Given the description of an element on the screen output the (x, y) to click on. 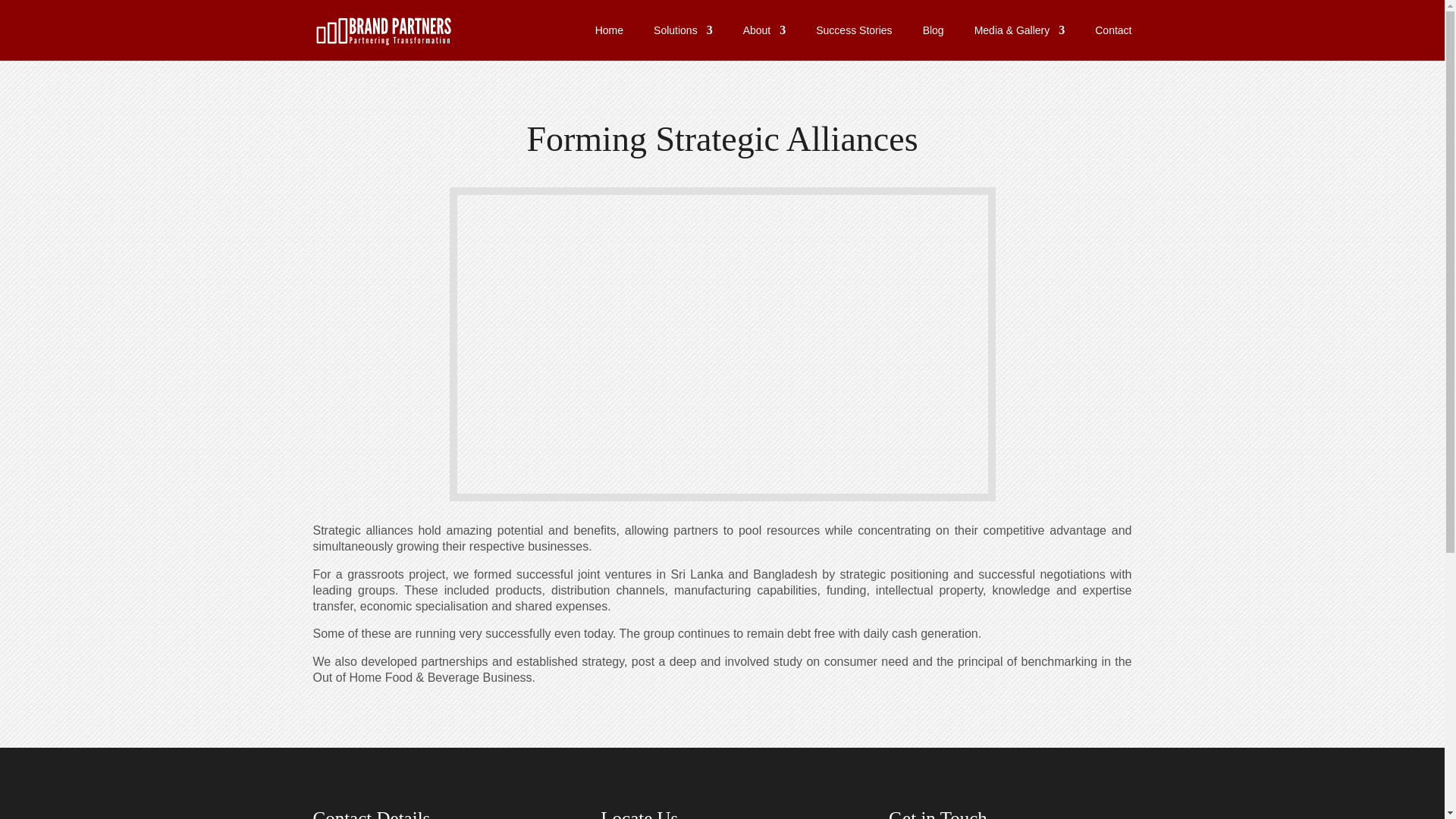
Solutions (683, 42)
Success Stories (853, 42)
Contact (1112, 42)
About (764, 42)
